Given the description of an element on the screen output the (x, y) to click on. 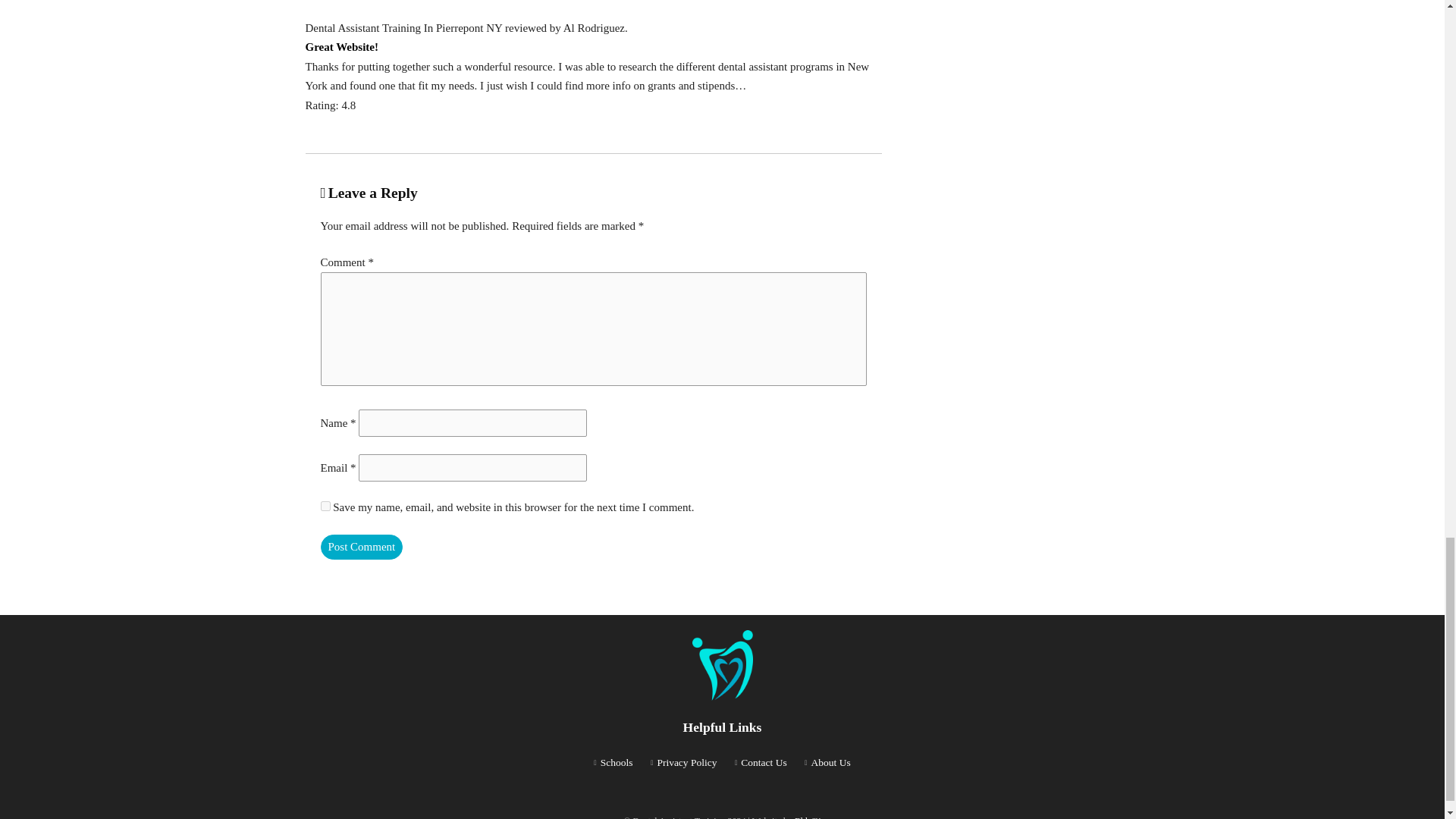
yes (325, 506)
Post Comment (361, 546)
Contact Us (763, 762)
About Us (830, 762)
Privacy Policy (686, 762)
Post Comment (361, 546)
Schools (616, 762)
